Given the description of an element on the screen output the (x, y) to click on. 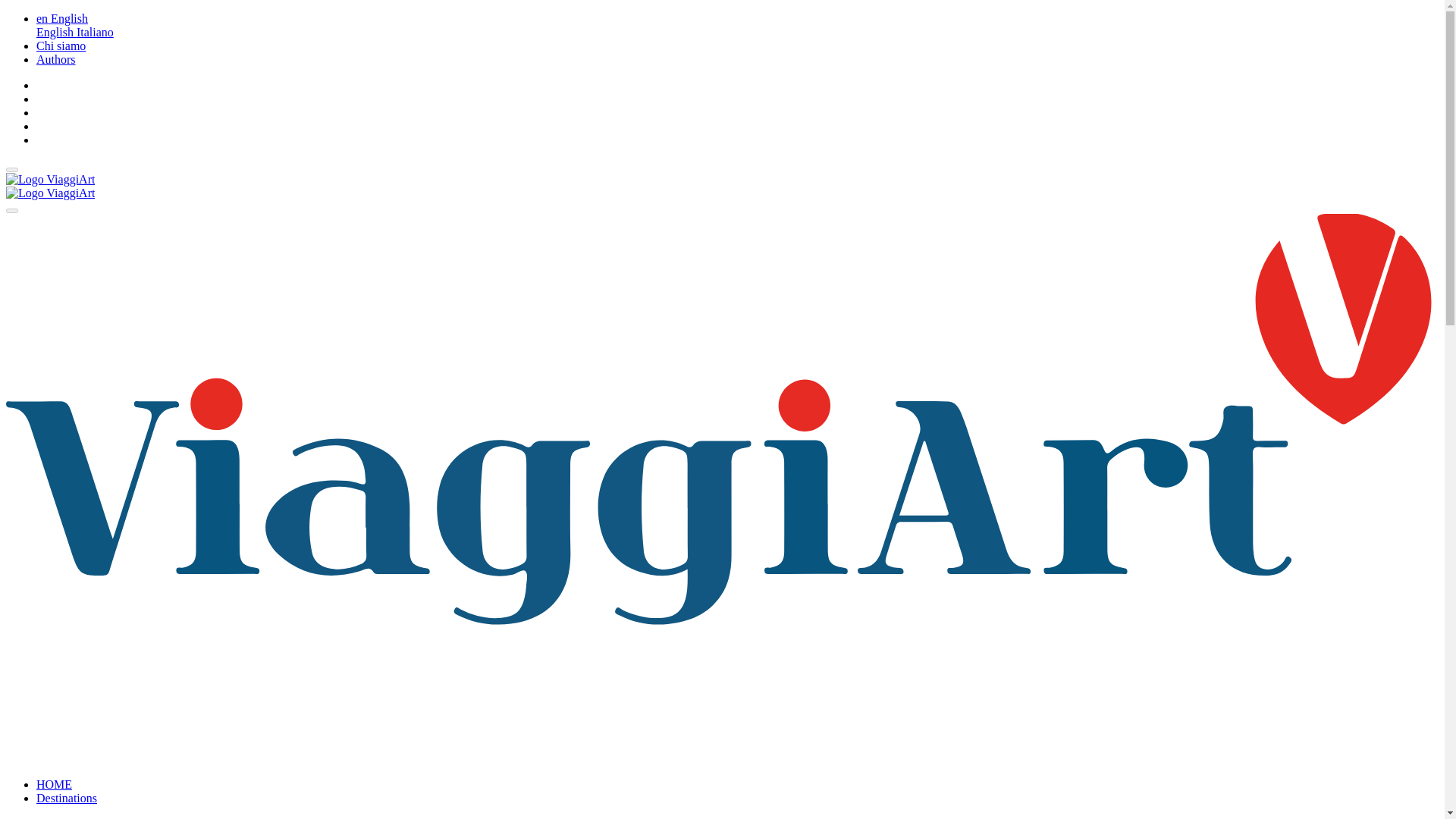
Chi siamo (60, 45)
English (56, 31)
en English (61, 18)
ViaggiArt (49, 178)
Authors (55, 59)
Destinations (66, 797)
HOME (53, 784)
ViaggiArt (49, 192)
Authors (55, 59)
Chi siamo (60, 45)
